Given the description of an element on the screen output the (x, y) to click on. 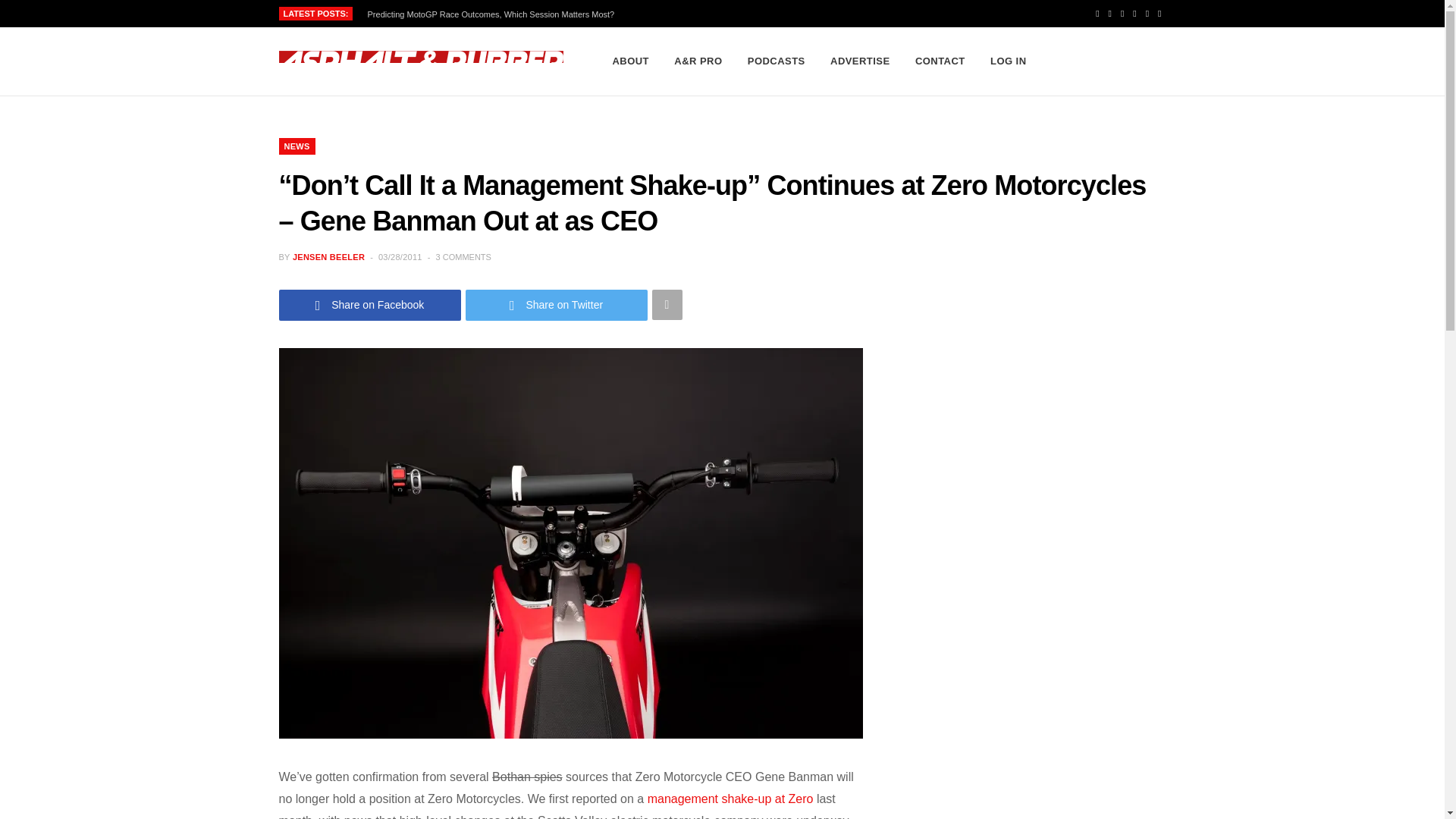
Share on Twitter (556, 305)
Predicting MotoGP Race Outcomes, Which Session Matters Most? (495, 14)
management shake-up at Zero (730, 798)
Posts by Jensen Beeler (328, 256)
Predicting MotoGP Race Outcomes, Which Session Matters Most? (495, 14)
CONTACT (940, 61)
Share on Twitter (556, 305)
JENSEN BEELER (328, 256)
Share on Facebook (370, 305)
PODCASTS (776, 61)
